Given the description of an element on the screen output the (x, y) to click on. 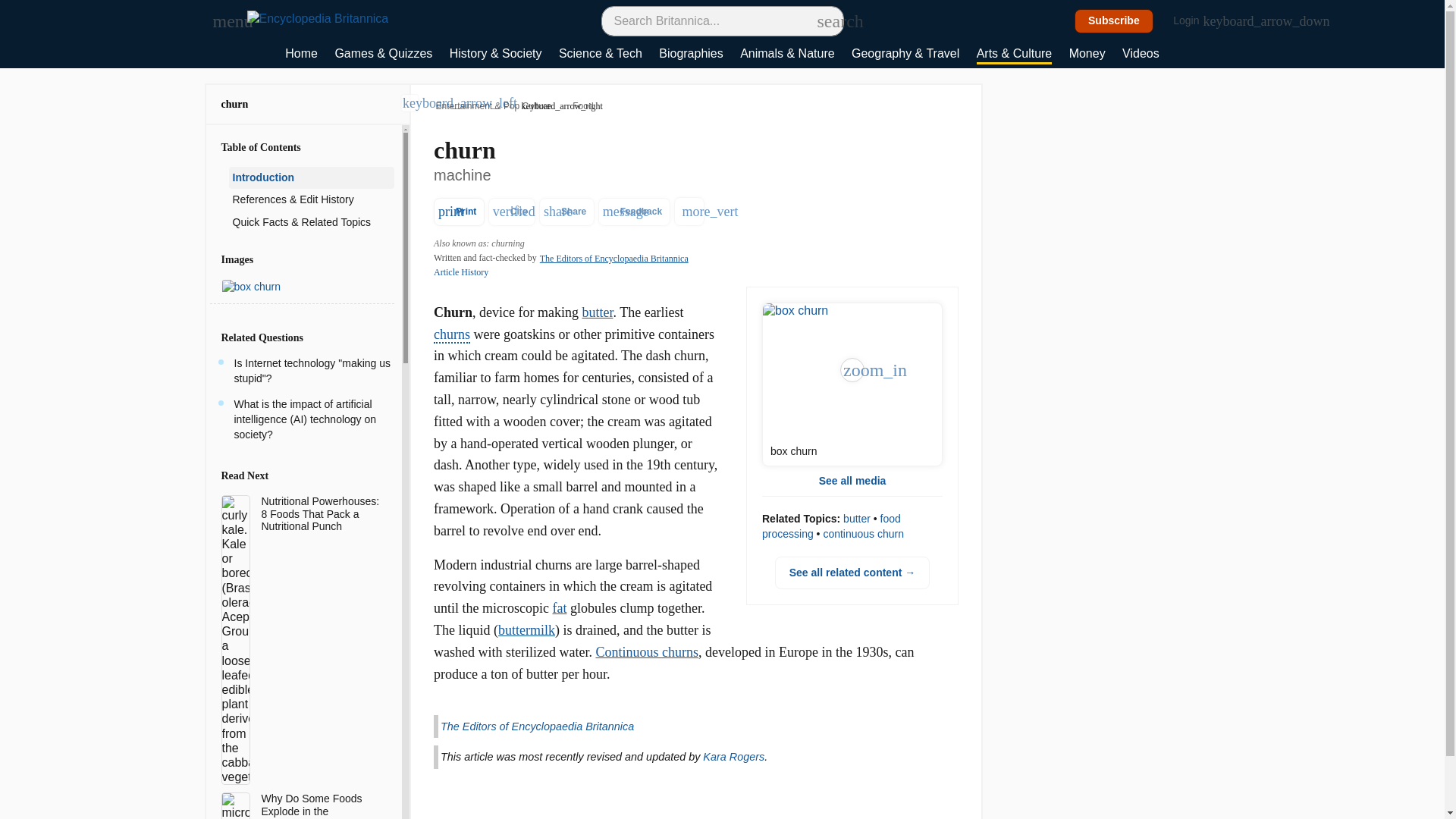
Click here to search (825, 20)
Subscribe (1114, 21)
Login (1194, 20)
